Given the description of an element on the screen output the (x, y) to click on. 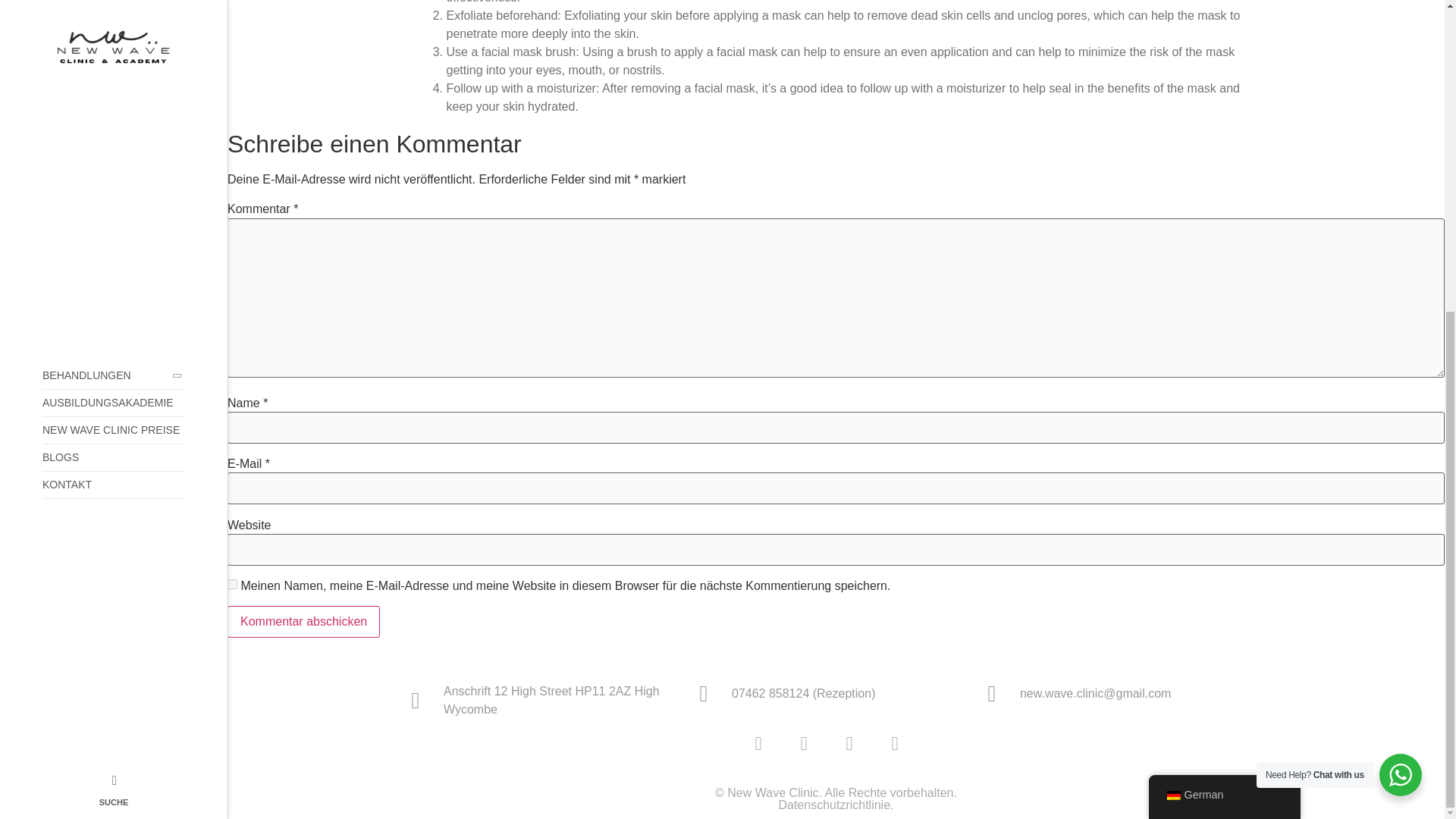
Kommentar abschicken (303, 622)
Kommentar abschicken (303, 622)
yes (232, 583)
German (1172, 298)
KONTAKT (113, 1)
